Given the description of an element on the screen output the (x, y) to click on. 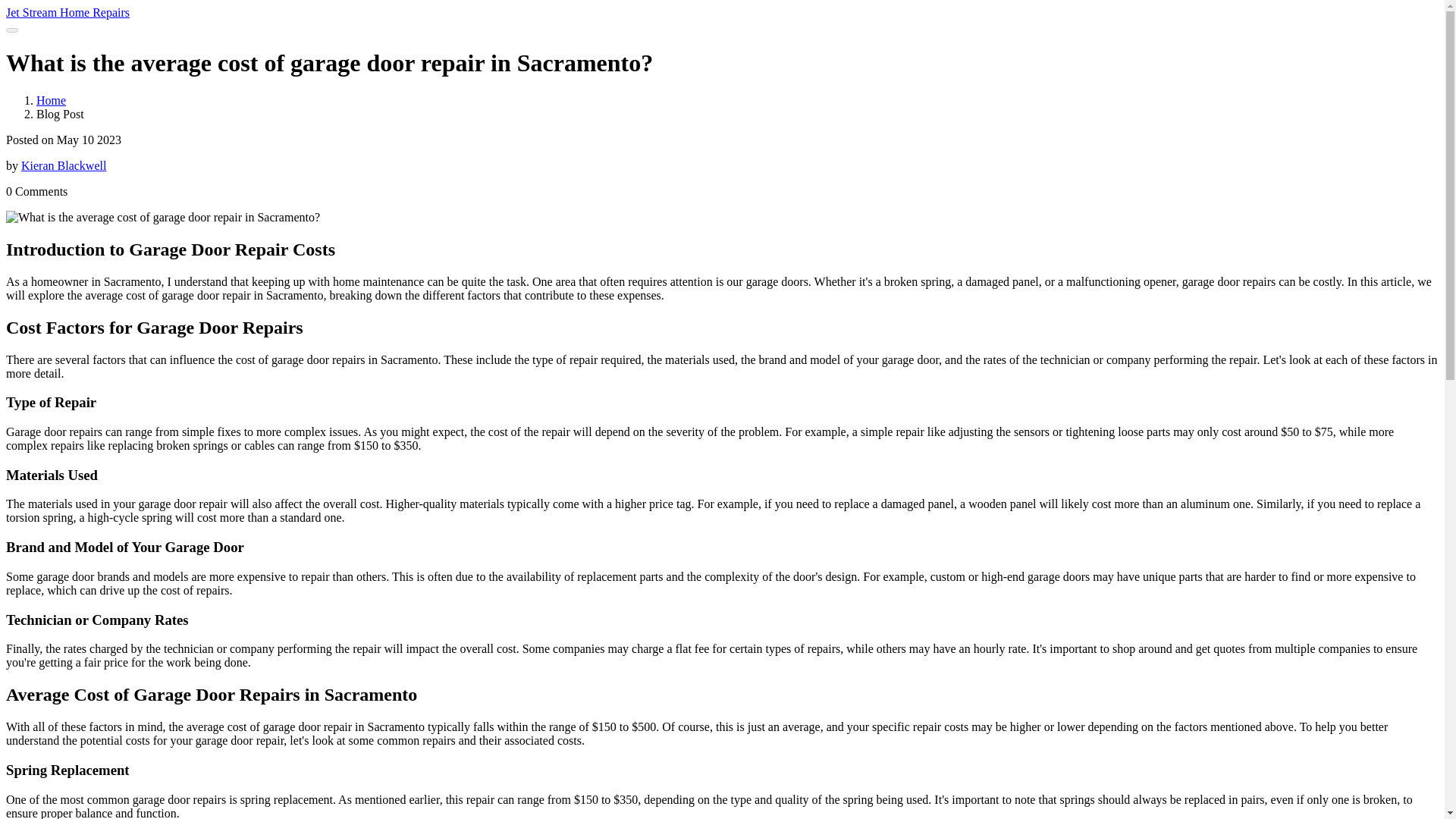
Kieran Blackwell (63, 164)
Home (50, 100)
Jet Stream Home Repairs (67, 11)
